Given the description of an element on the screen output the (x, y) to click on. 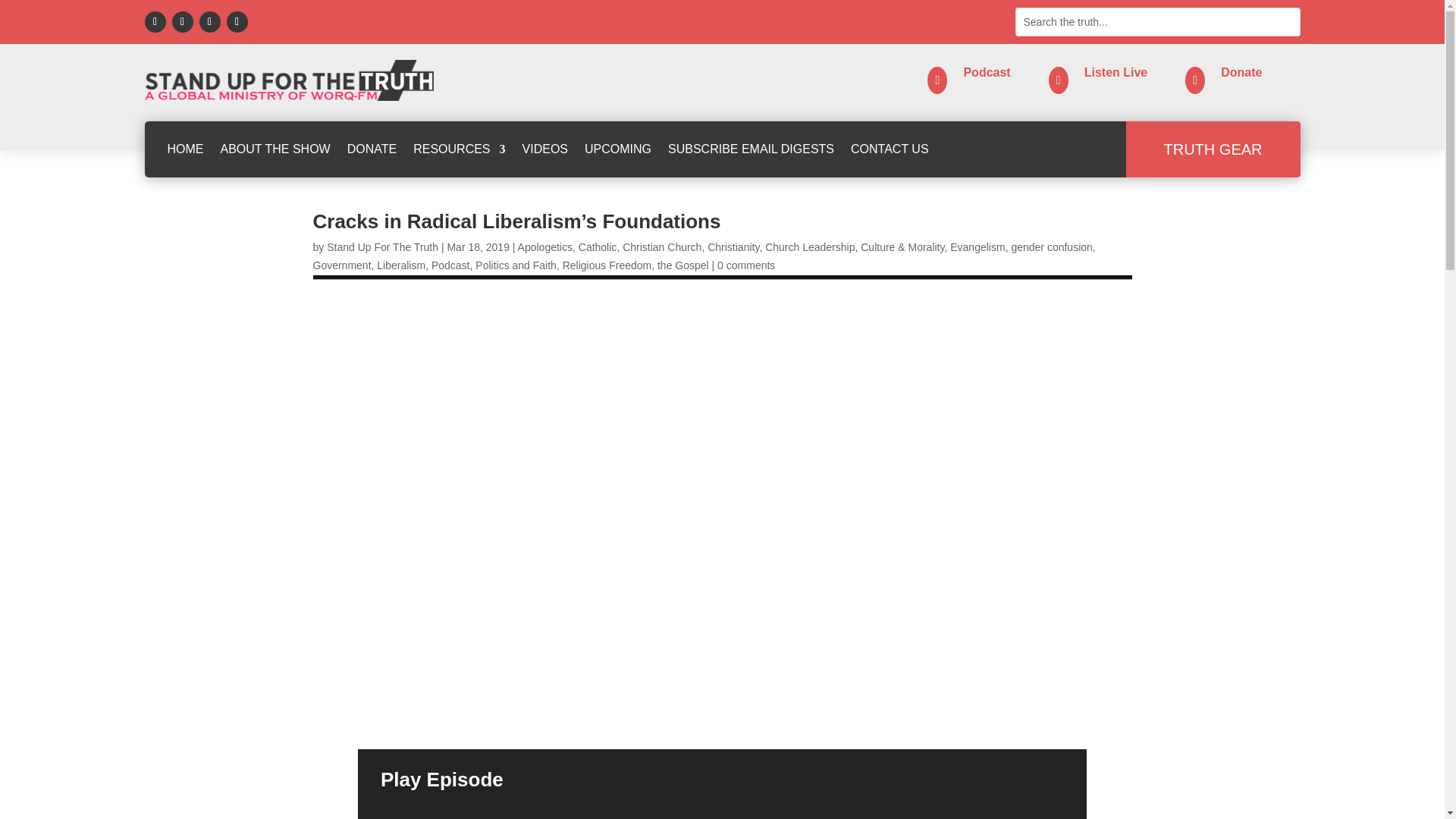
DONATE (371, 149)
Follow on Facebook (154, 21)
Search (24, 13)
Follow on Spotify (181, 21)
HOME (185, 149)
TRUTH GEAR (1212, 149)
Follow on Instagram (208, 21)
gender confusion (1051, 246)
VIDEOS (544, 149)
Podcast (986, 72)
Government (342, 265)
Donate (1241, 72)
Follow on RSS (236, 21)
Catholic (597, 246)
